Given the description of an element on the screen output the (x, y) to click on. 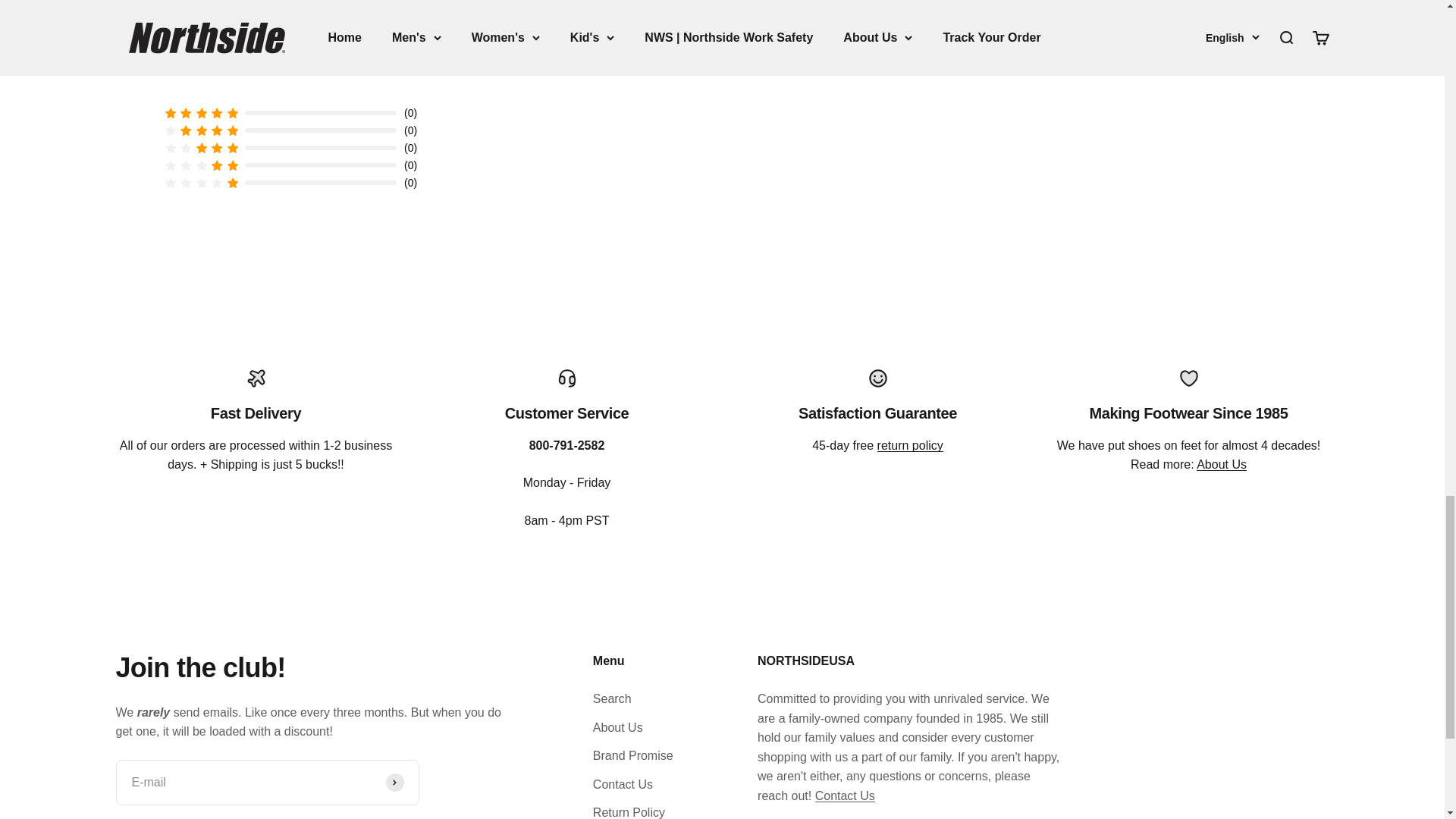
Contact Us (845, 795)
About Us (1221, 463)
Refund Policy (910, 445)
